Given the description of an element on the screen output the (x, y) to click on. 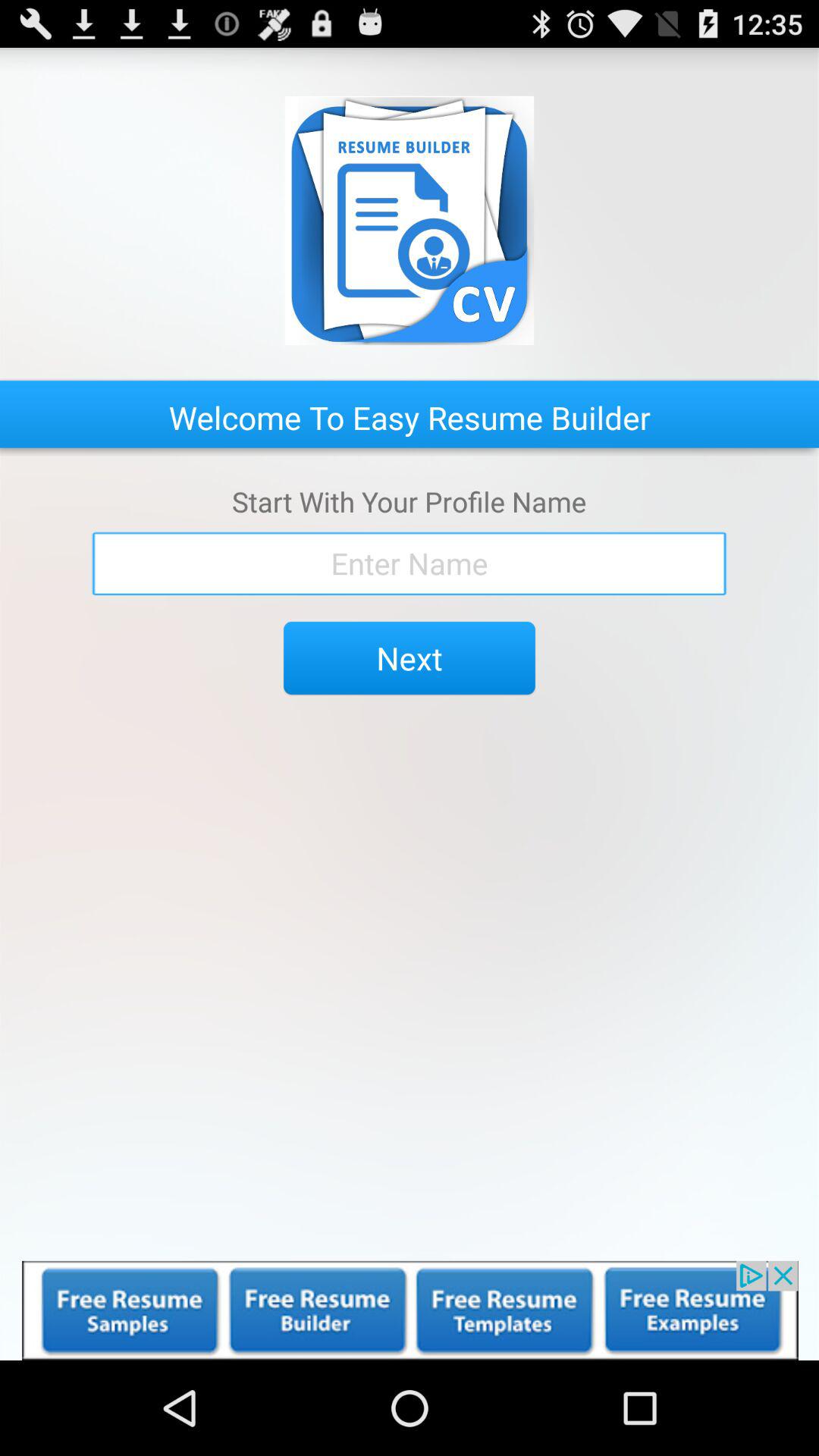
app advertisement (409, 1310)
